Given the description of an element on the screen output the (x, y) to click on. 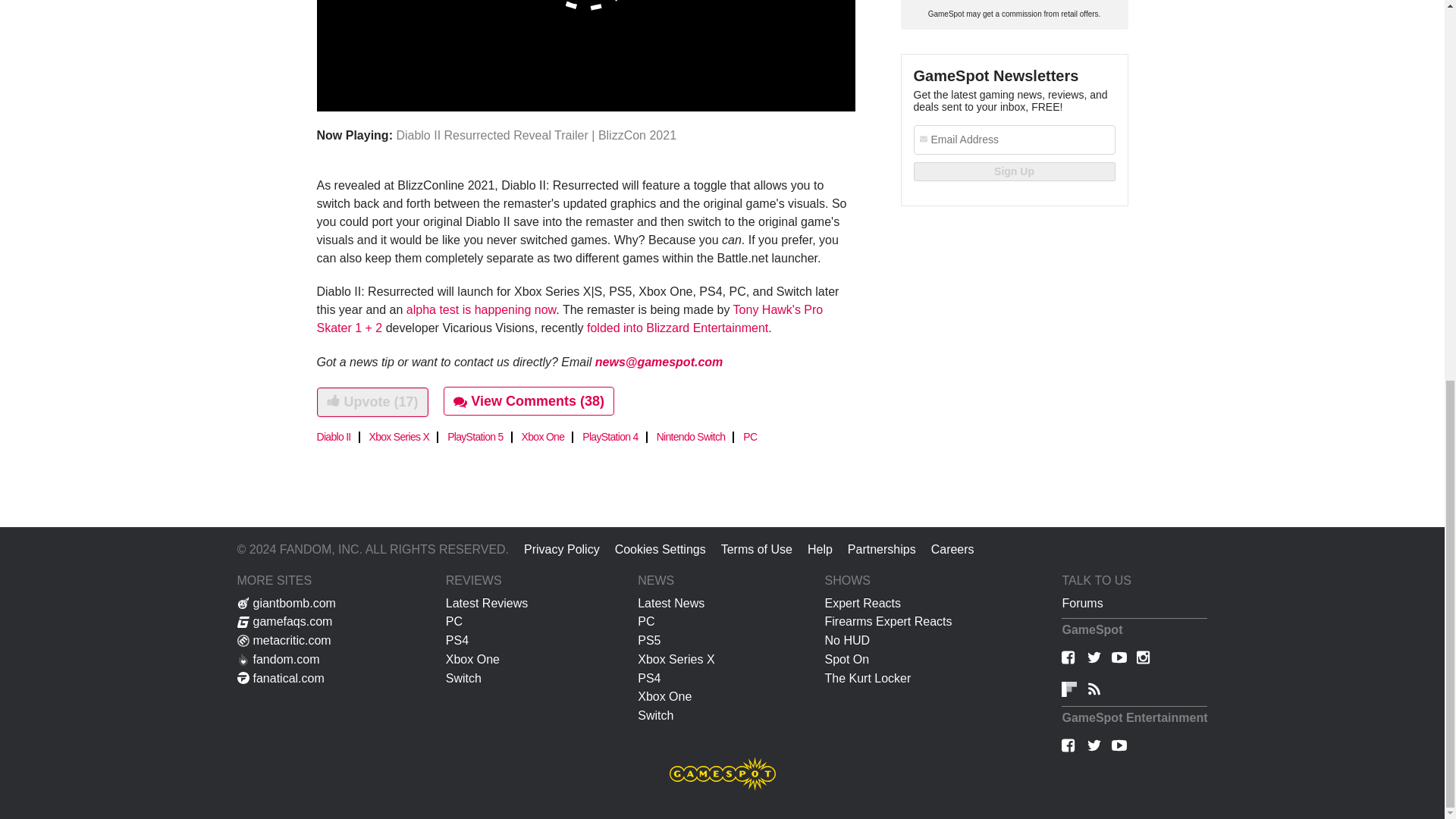
RSS Feeds (1094, 691)
